Given the description of an element on the screen output the (x, y) to click on. 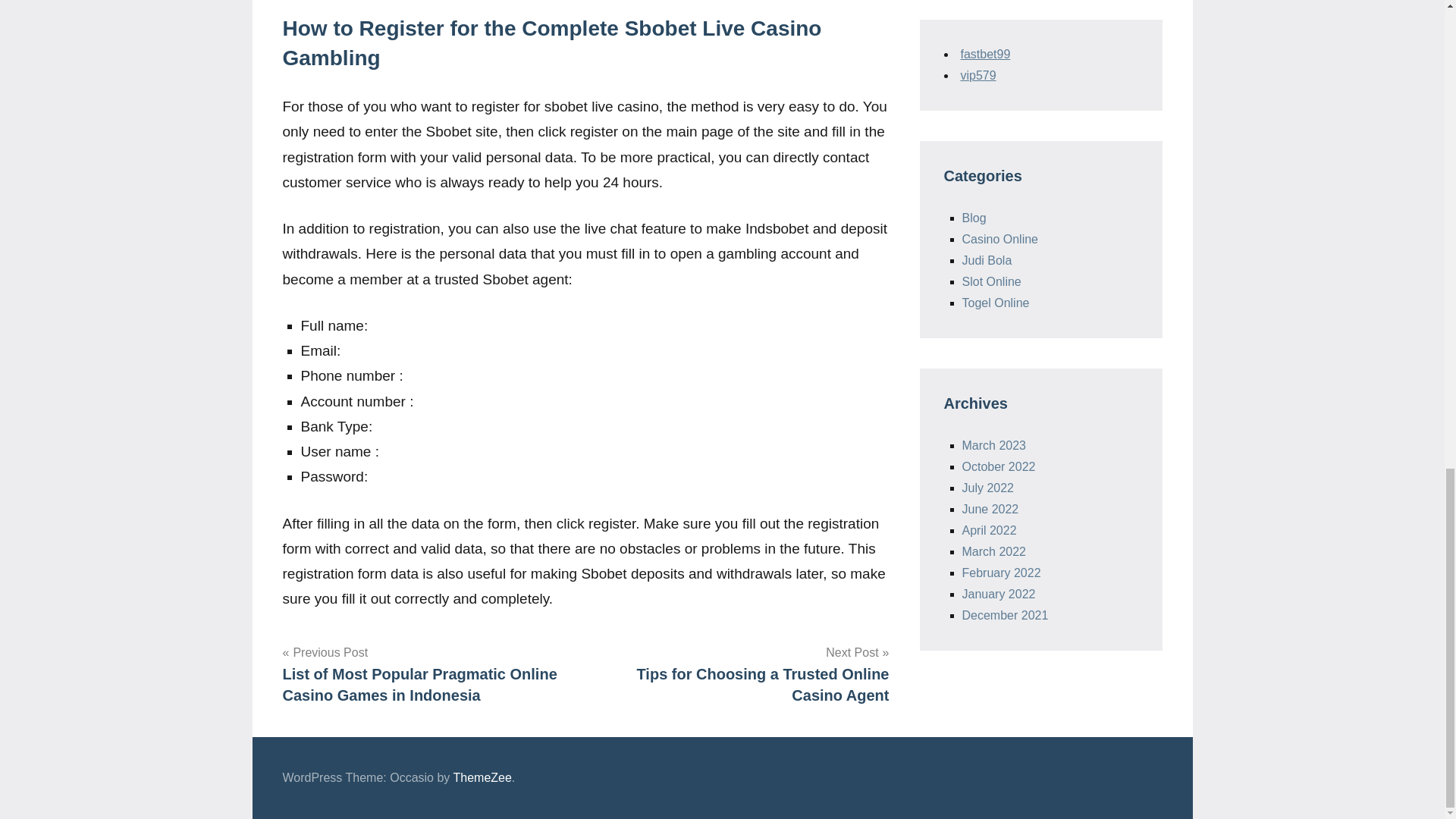
vip579 (977, 74)
fastbet99 (984, 53)
